Given the description of an element on the screen output the (x, y) to click on. 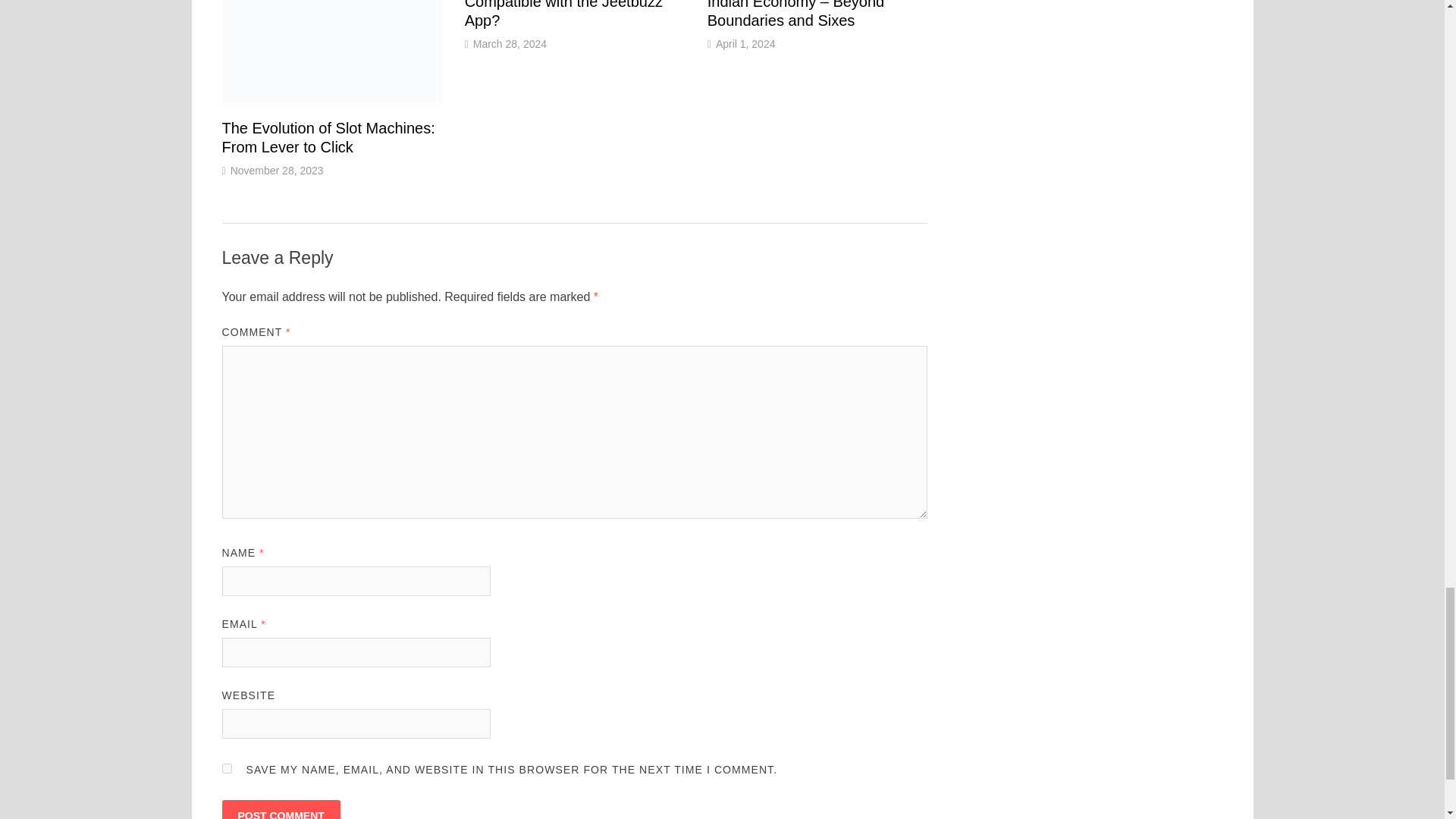
yes (226, 768)
The Evolution of Slot Machines: From Lever to Click (327, 137)
Post Comment (280, 809)
Untitled design 2023 11 28T013318.374 (331, 52)
Which Android Devices Are Compatible with the Jeetbuzz App? (563, 14)
